Given the description of an element on the screen output the (x, y) to click on. 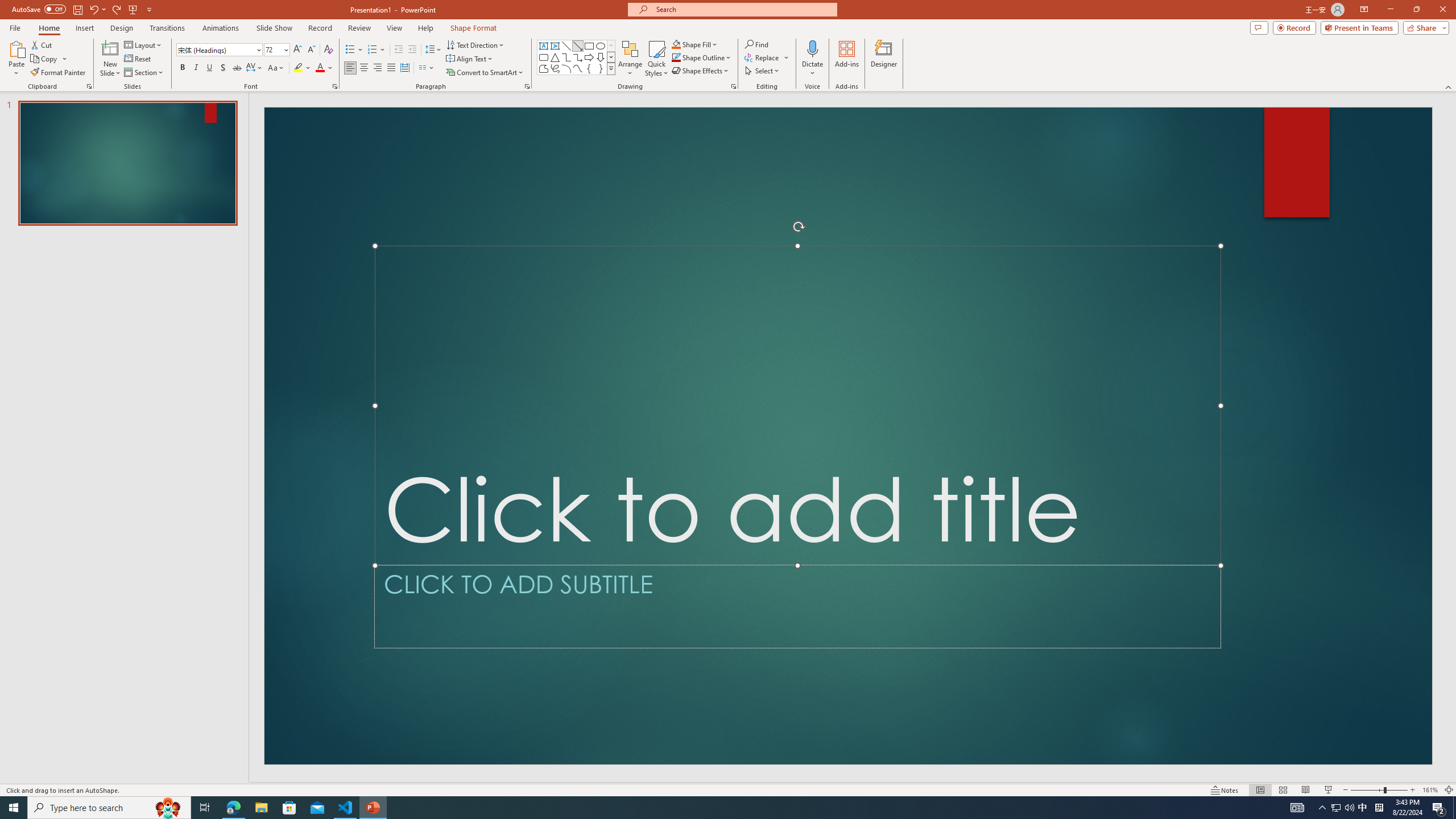
Title TextBox (797, 405)
Shape Fill Orange, Accent 2 (675, 44)
Oval (600, 45)
Shapes (611, 68)
Cut (42, 44)
Shape Outline (701, 56)
Font (215, 49)
Replace... (762, 56)
